Given the description of an element on the screen output the (x, y) to click on. 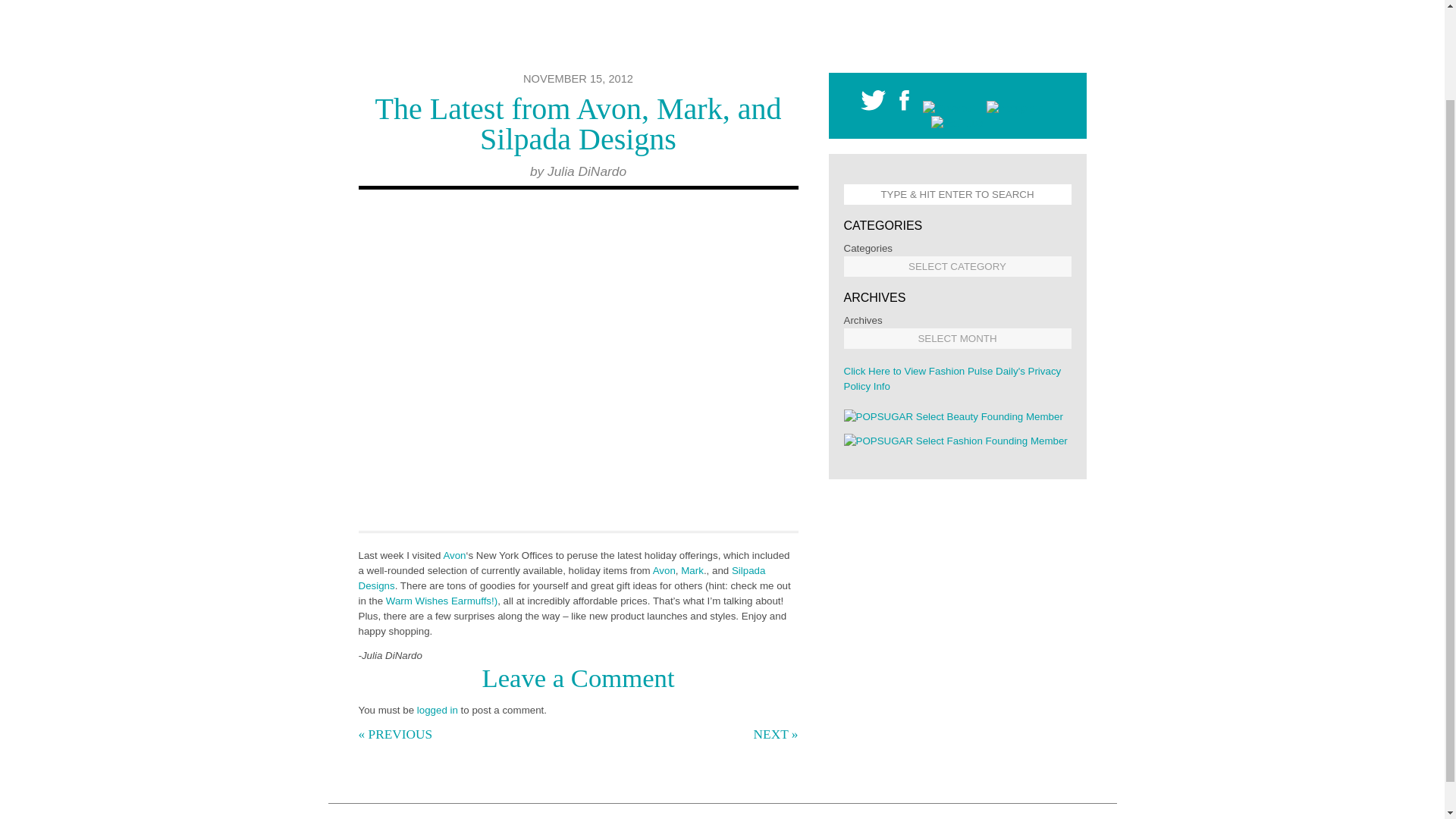
Julia DiNardo (586, 171)
The Latest from Avon, Mark, and Silpada Designs (578, 123)
Next (772, 512)
Fashion Pulse Daily (722, 36)
Log in (437, 709)
logged in (437, 709)
Silpada Designs (561, 578)
Thursday, November 15th, 2012, 5:54 am (577, 78)
Avon (663, 570)
Mark (692, 570)
Julia DiNardo (586, 171)
Avon (453, 555)
Previous (741, 512)
